Given the description of an element on the screen output the (x, y) to click on. 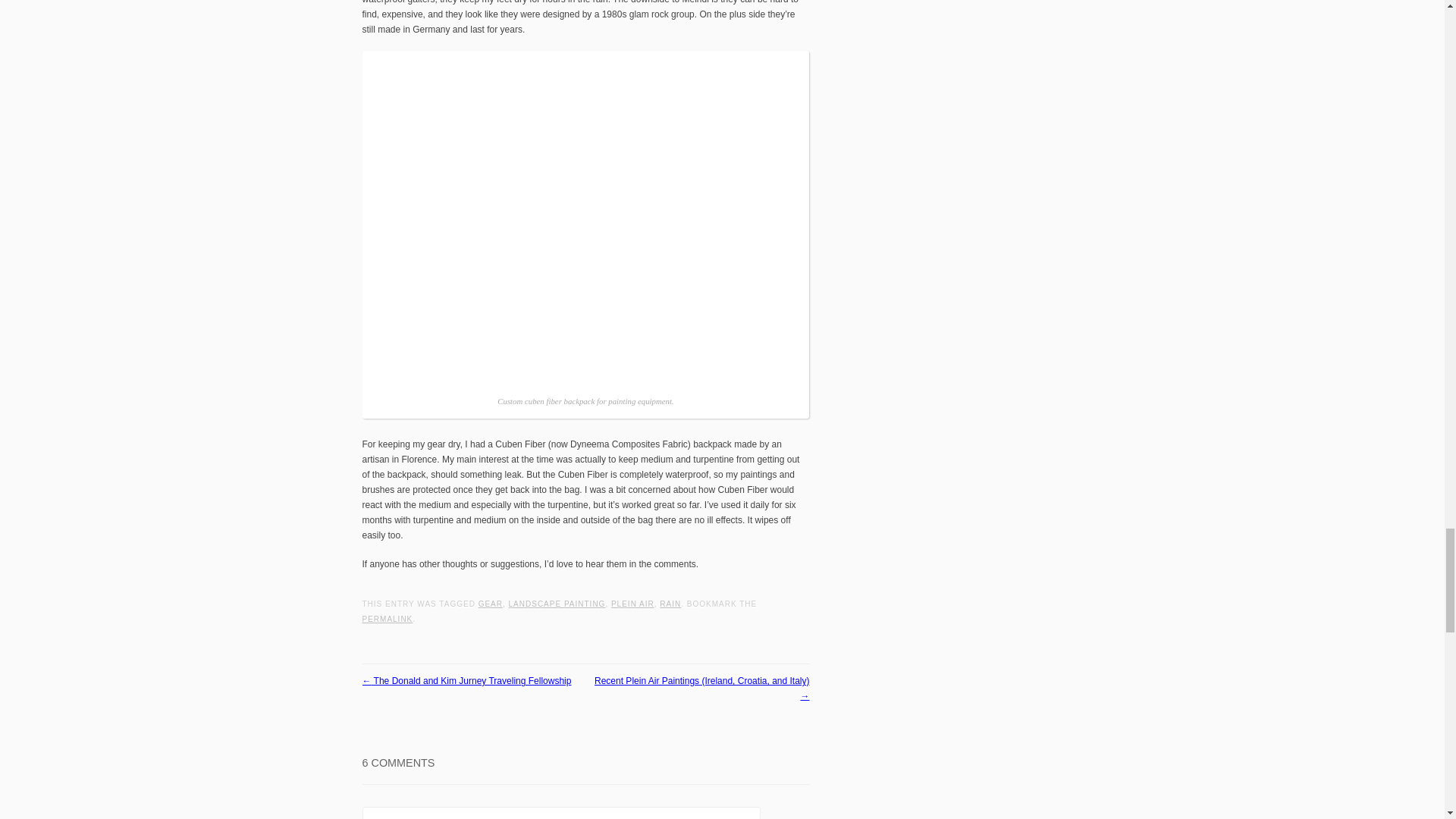
LANDSCAPE PAINTING (556, 603)
PERMALINK (387, 619)
GEAR (490, 603)
Permalink to Plein Air Painting in Rain (387, 619)
RAIN (670, 603)
PLEIN AIR (632, 603)
